Given the description of an element on the screen output the (x, y) to click on. 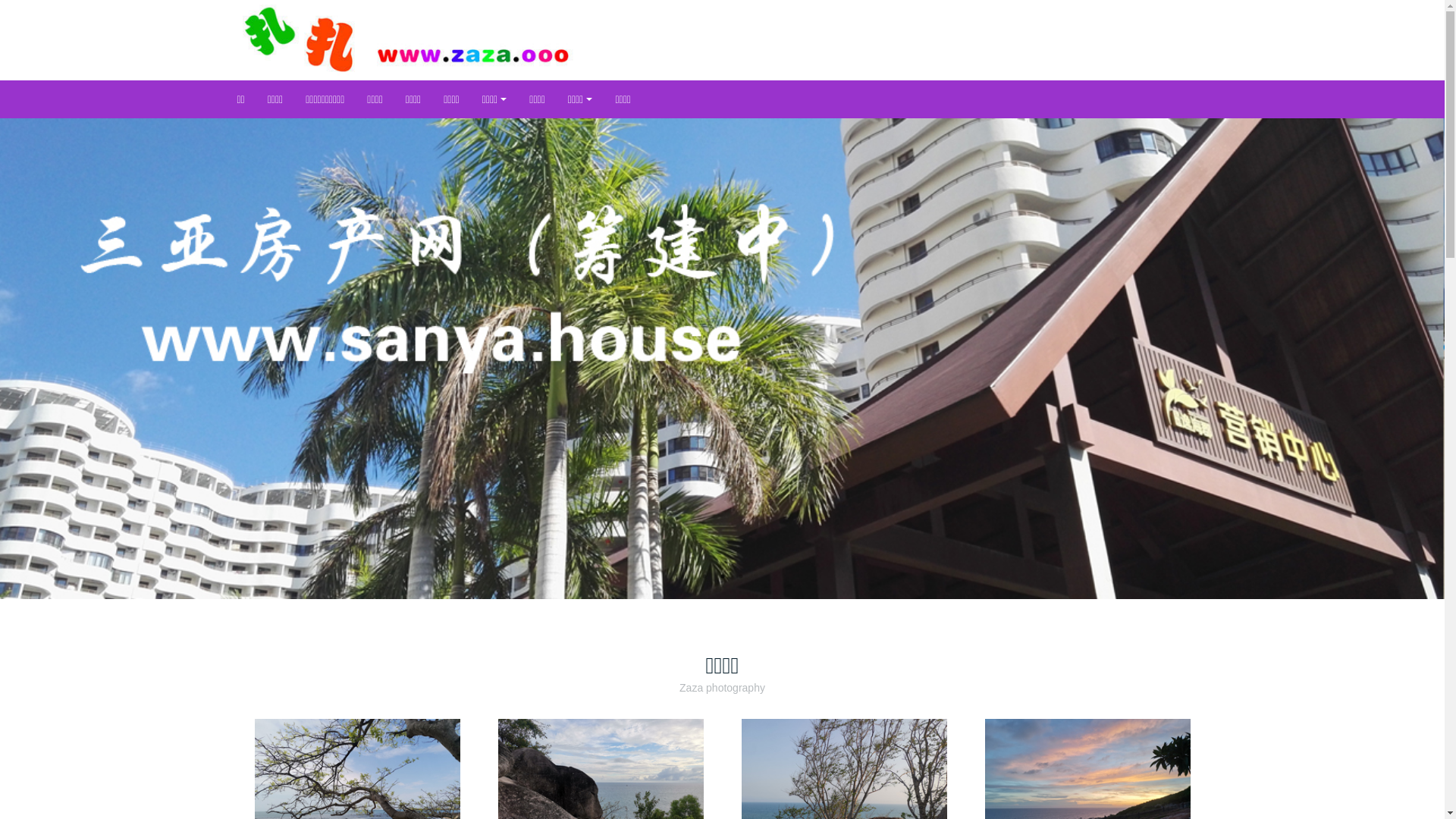
2 Element type: text (721, 575)
1 Element type: text (703, 575)
3 Element type: text (739, 575)
